Given the description of an element on the screen output the (x, y) to click on. 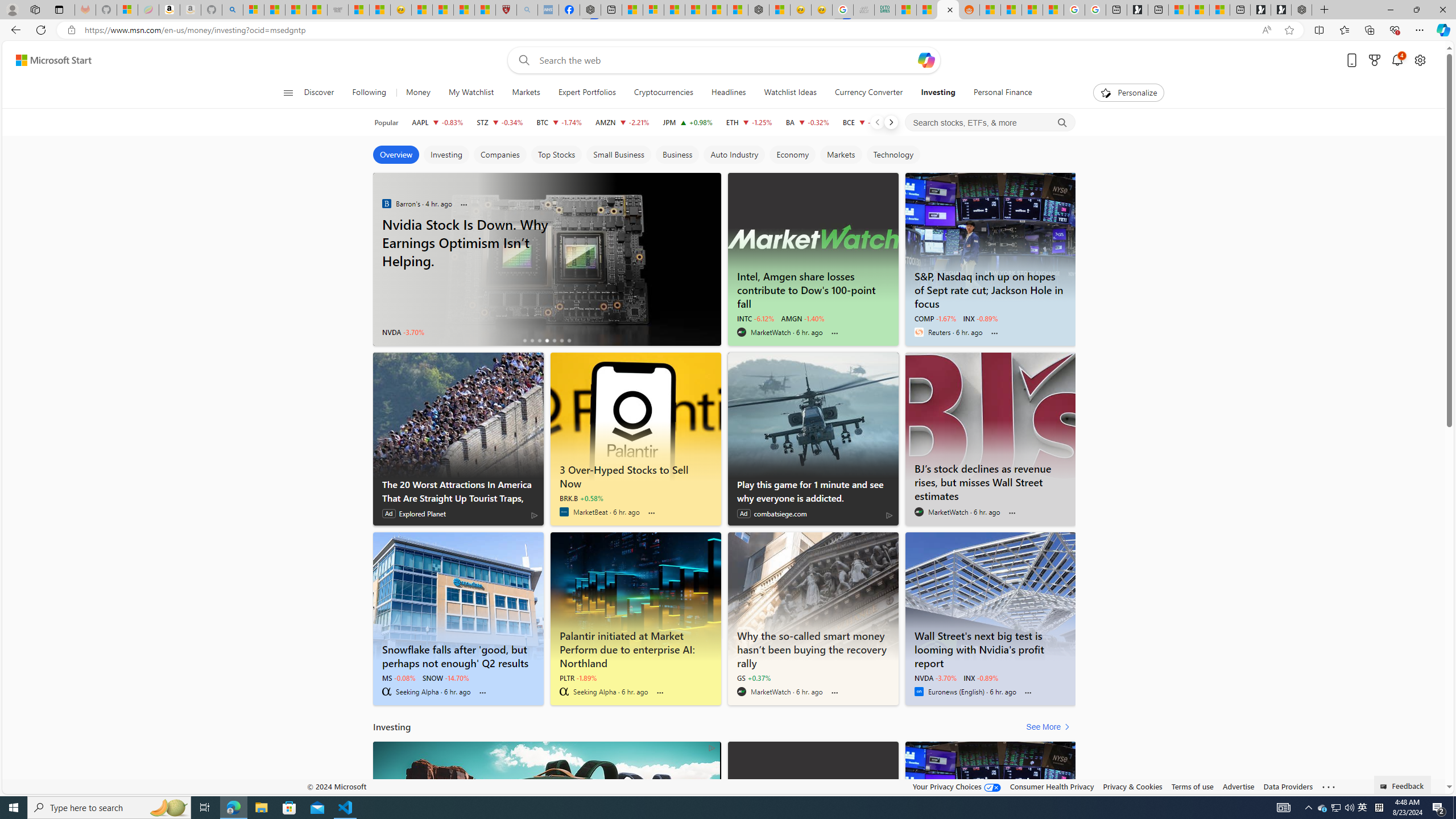
MarketWatch (740, 691)
Microsoft-Report a Concern to Bing (127, 9)
Search stocks, ETFs, & more (989, 122)
Seeking Alpha (564, 691)
Terms of use (1192, 785)
View site information (70, 29)
Microsoft Start (1198, 9)
Technology (893, 154)
Nordace - #1 Japanese Best-Seller - Siena Smart Backpack (759, 9)
Previous (876, 122)
Next (890, 122)
Auto Industry (733, 154)
Microsoft Start Gaming (1137, 9)
